Given the description of an element on the screen output the (x, y) to click on. 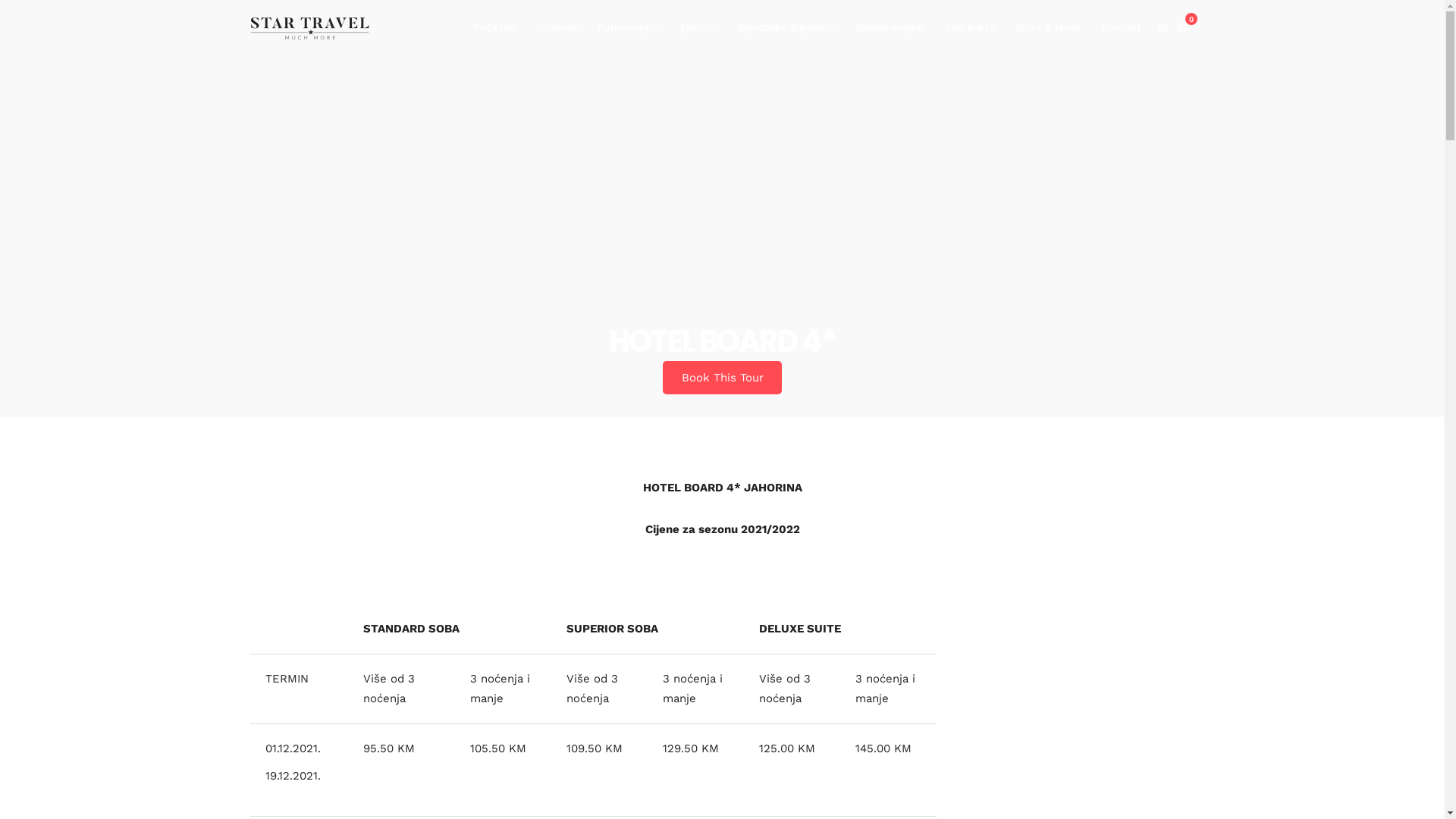
Kontakt Element type: text (1127, 28)
Ljeto Element type: text (705, 28)
Putovanja Element type: text (635, 28)
O nama Element type: text (562, 28)
View Cart Element type: hover (1182, 26)
Book This Tour Element type: text (721, 377)
Stars & More Element type: text (1054, 28)
Korisni savjeti Element type: text (896, 28)
Avio Karte Element type: text (975, 28)
Republika Srpska Element type: text (792, 28)
